Given the description of an element on the screen output the (x, y) to click on. 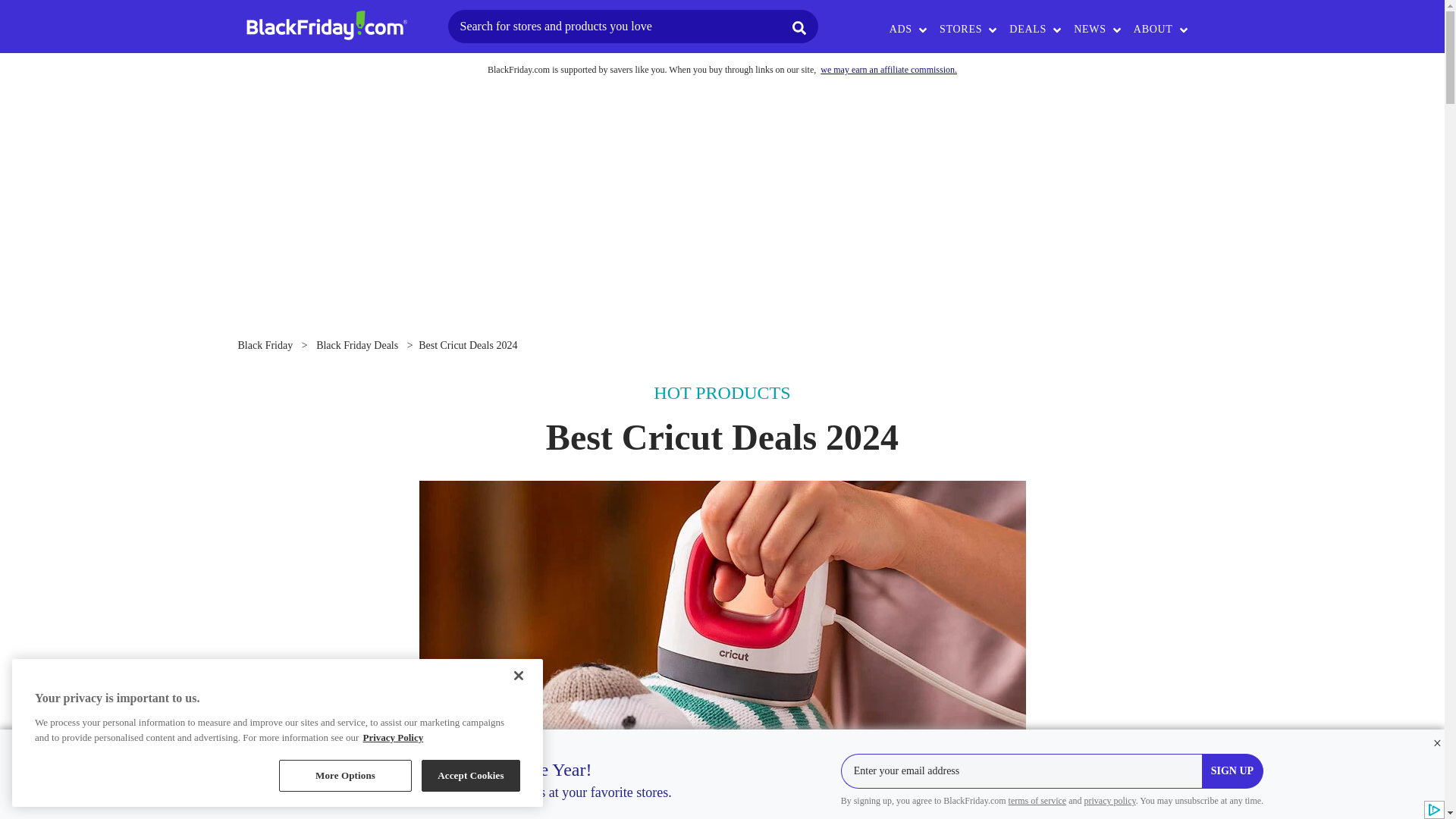
DEALS (1029, 29)
STORES (962, 29)
ABOUT (1154, 29)
ADS (902, 29)
NEWS (1091, 29)
email-name (1021, 770)
